Given the description of an element on the screen output the (x, y) to click on. 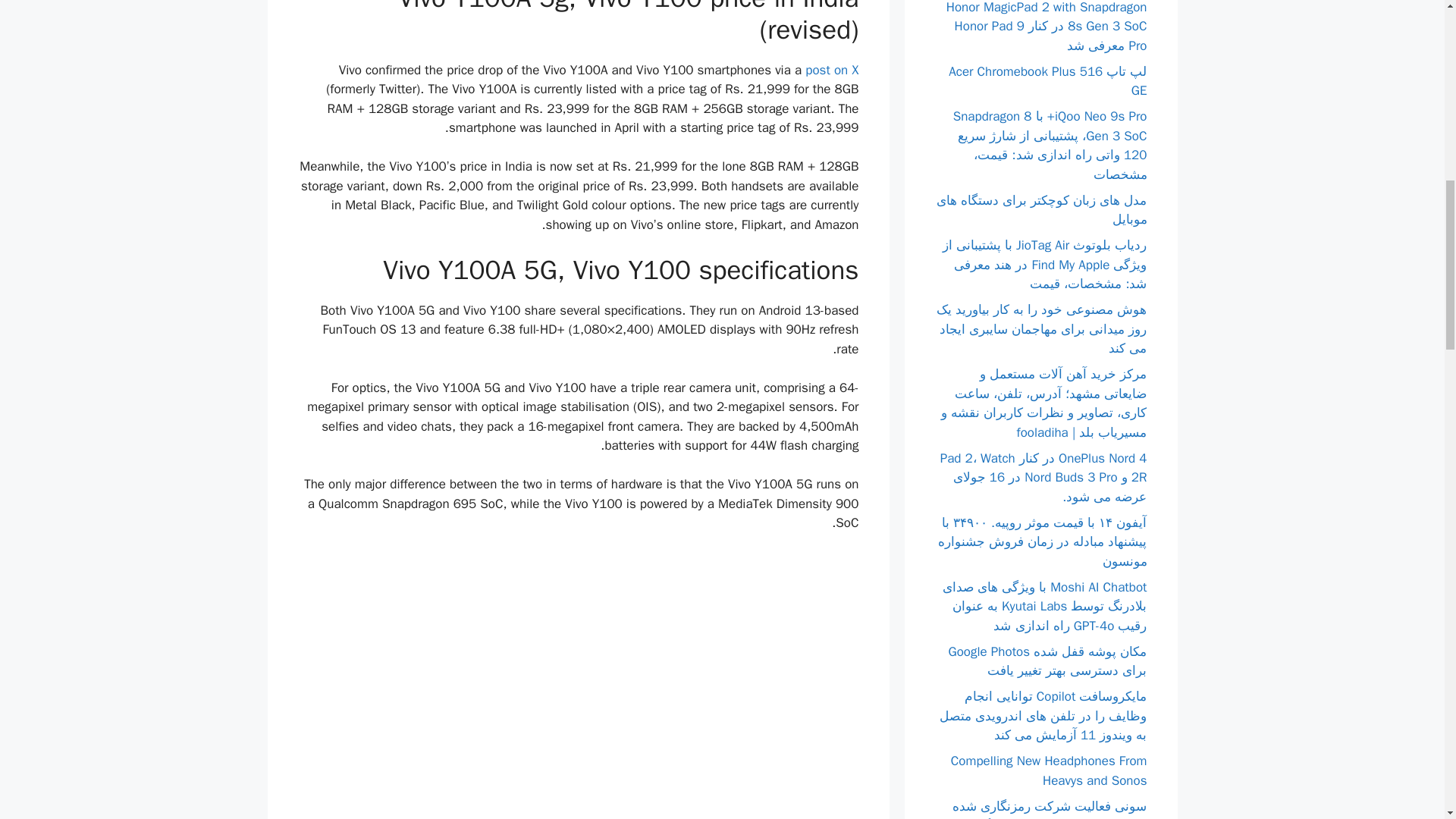
post on X (832, 69)
Compelling New Headphones From Heavys and Sonos (1048, 770)
